Given the description of an element on the screen output the (x, y) to click on. 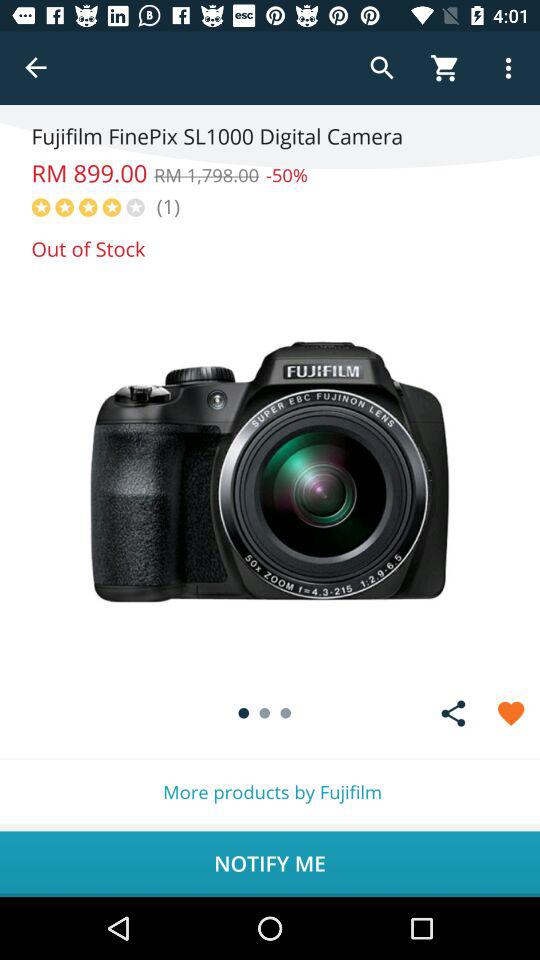
share this item (453, 713)
